Given the description of an element on the screen output the (x, y) to click on. 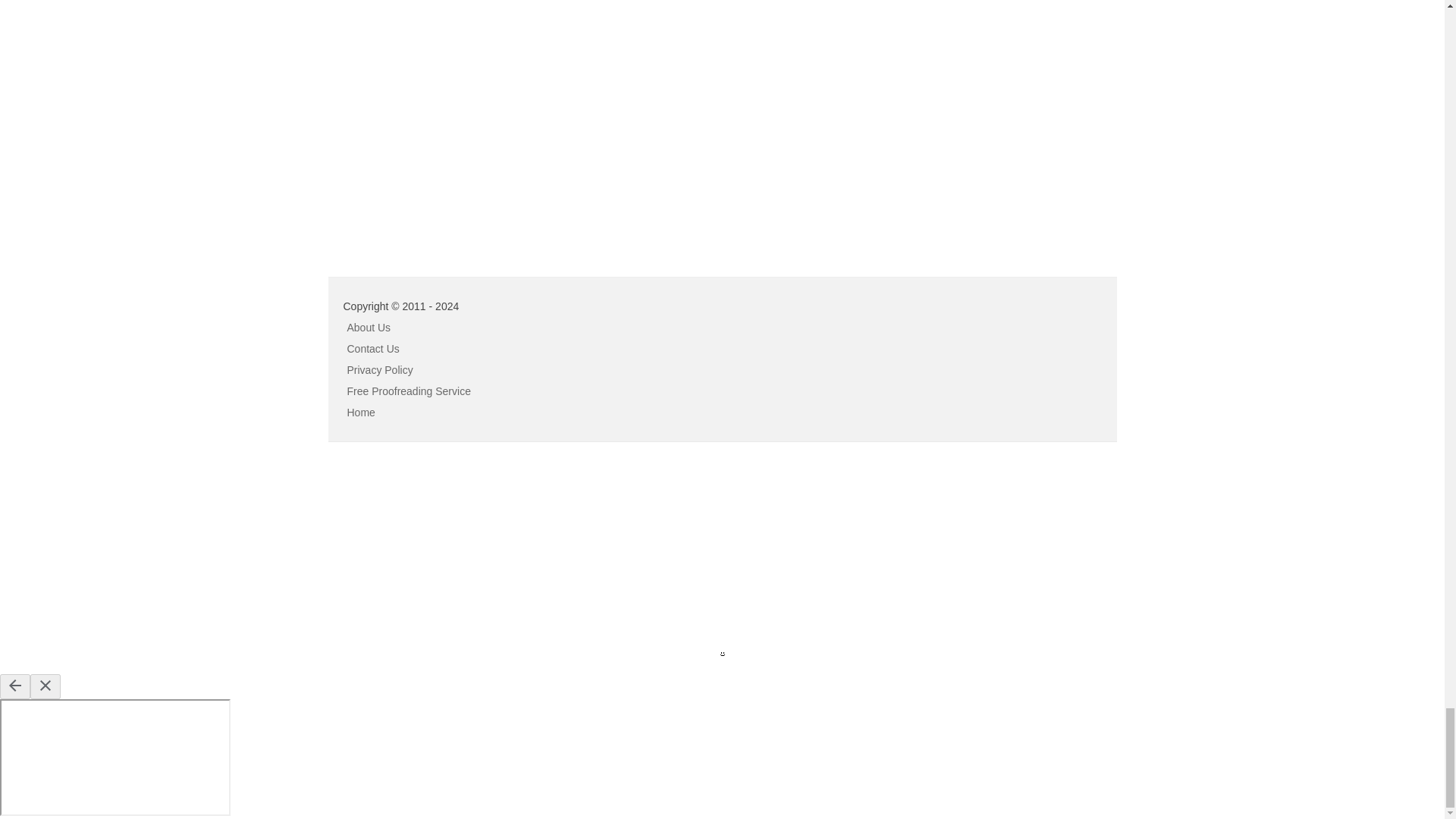
Privacy Policy (380, 369)
Home (361, 412)
About Us (369, 327)
Free Proofreading Service (408, 390)
Contact Us (372, 348)
